Given the description of an element on the screen output the (x, y) to click on. 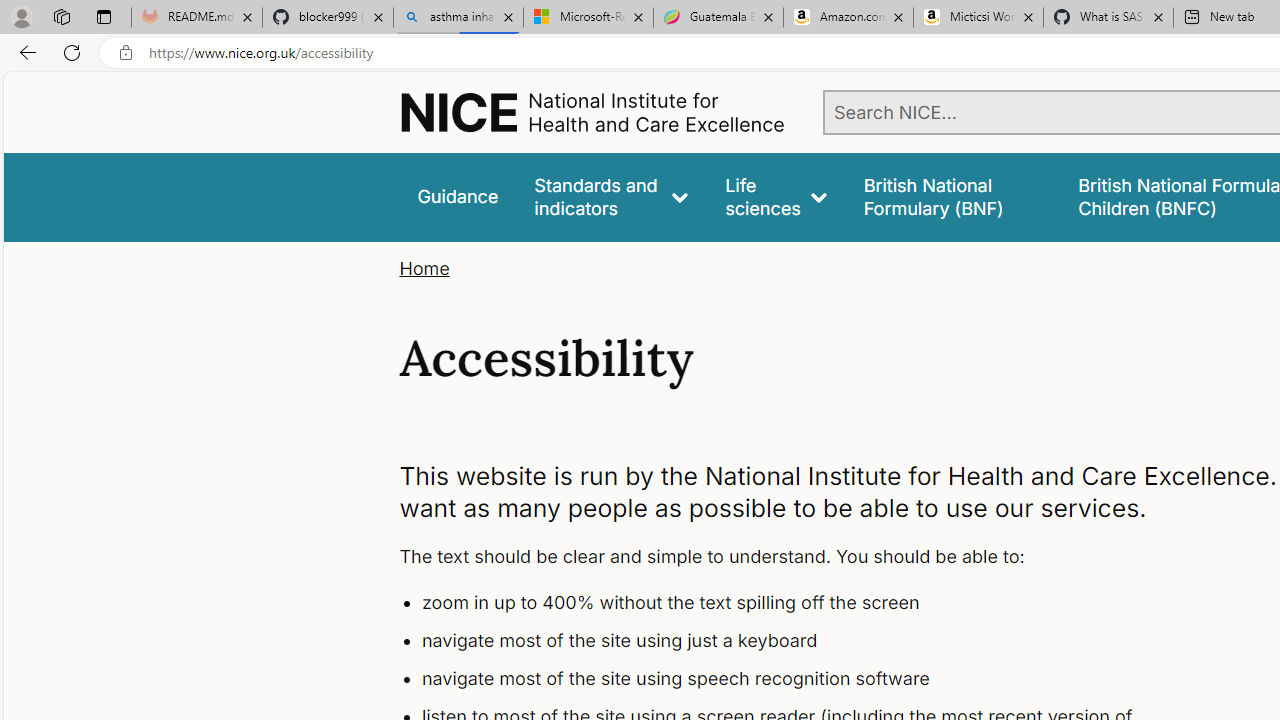
navigate most of the site using speech recognition software (796, 678)
zoom in up to 400% without the text spilling off the screen (796, 603)
false (952, 196)
navigate most of the site using just a keyboard (796, 641)
asthma inhaler - Search (458, 17)
